Given the description of an element on the screen output the (x, y) to click on. 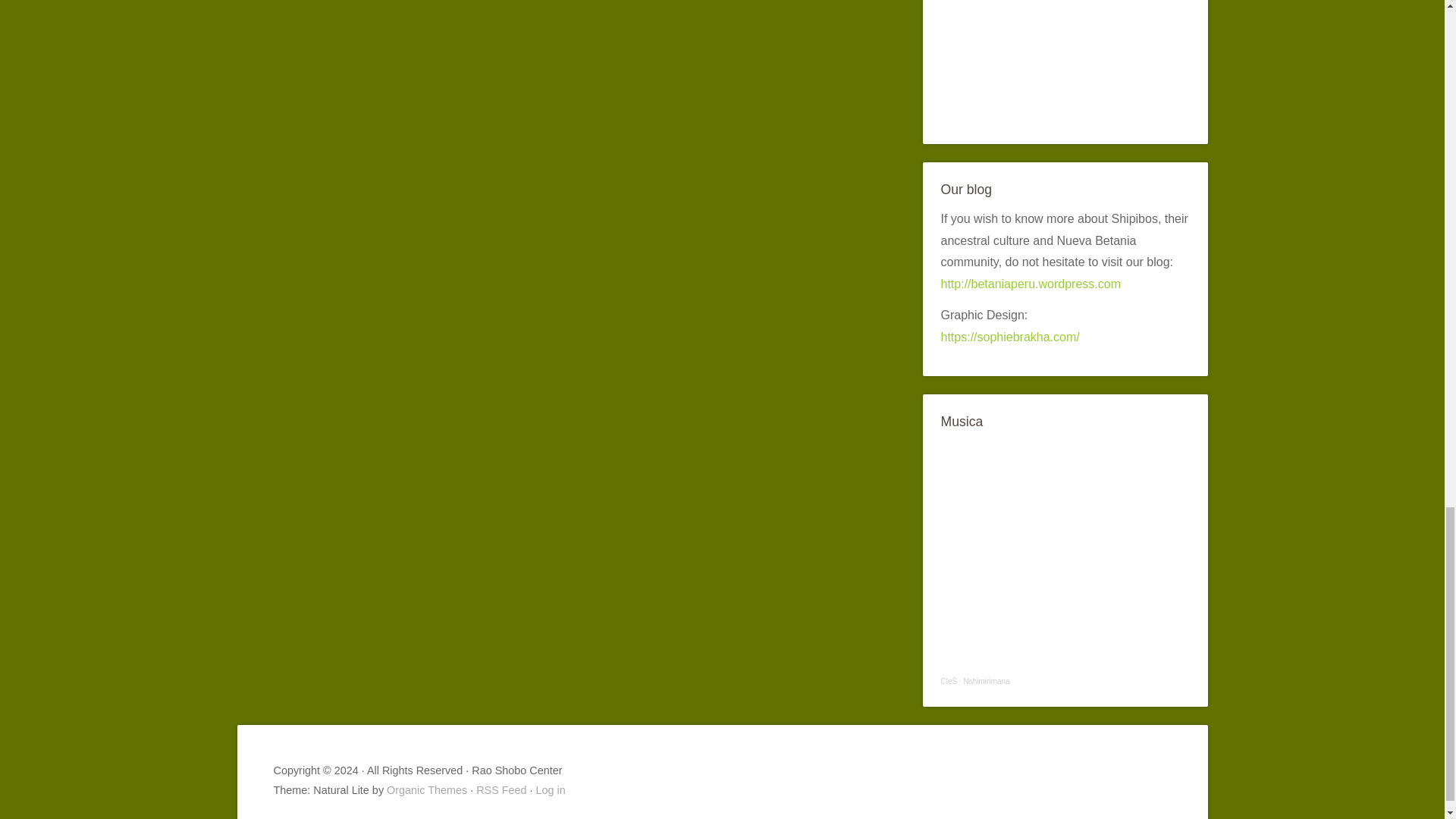
Nshimirimana (986, 681)
RSS Feed (500, 789)
Nshimirimana (986, 681)
CleS (948, 681)
Log in (550, 789)
Organic Themes (427, 789)
CleS (948, 681)
